Given the description of an element on the screen output the (x, y) to click on. 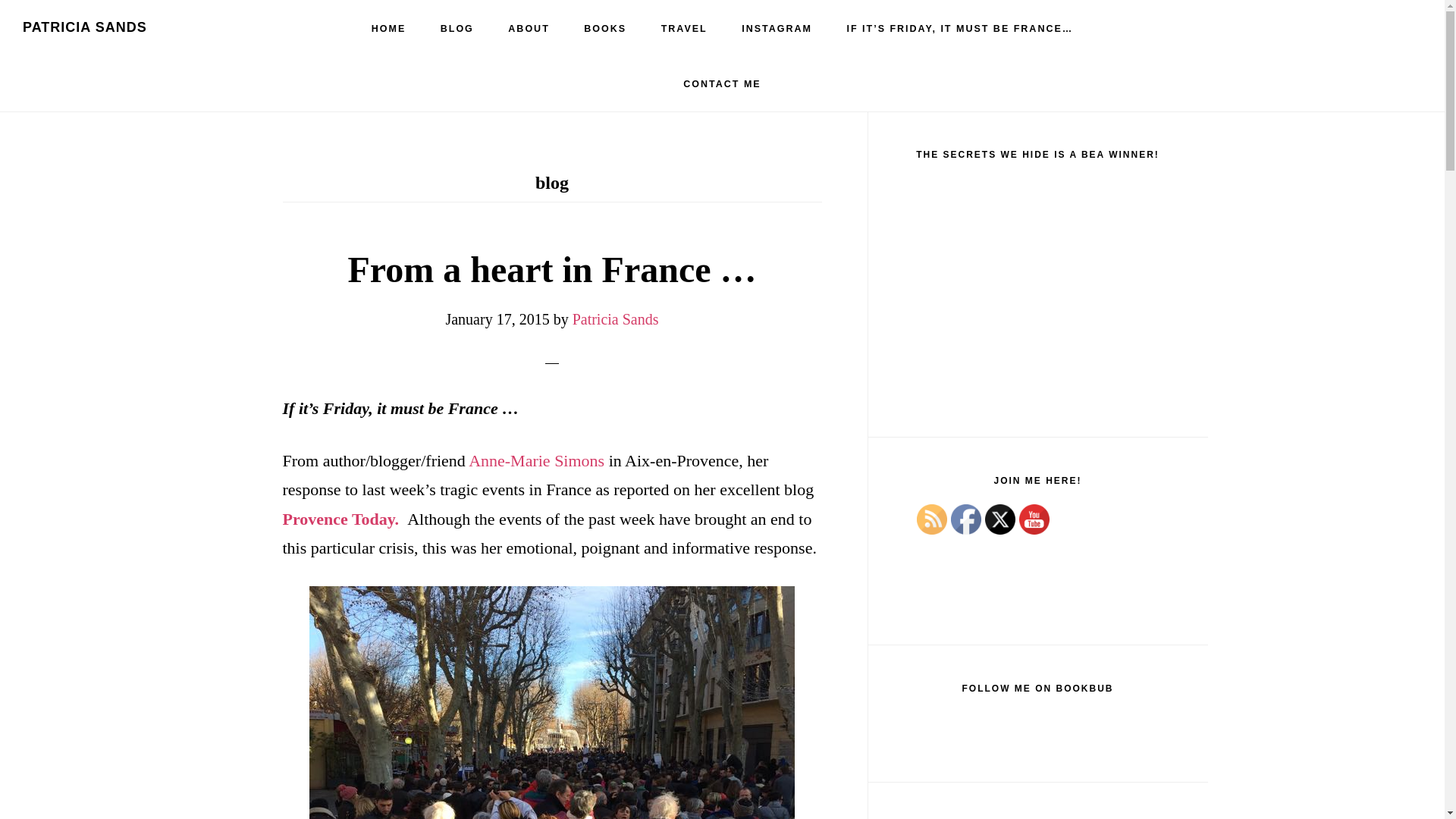
Facebook (965, 519)
Patricia Sands (615, 319)
YouTube (1034, 519)
Provence Today. (340, 518)
TRAVEL (684, 28)
BOOKS (605, 28)
RSS (930, 519)
PATRICIA SANDS (85, 27)
INSTAGRAM (776, 28)
Twitter (999, 519)
HOME (389, 28)
ABOUT (528, 28)
Anne-Marie Simons (536, 460)
CONTACT ME (722, 83)
